Given the description of an element on the screen output the (x, y) to click on. 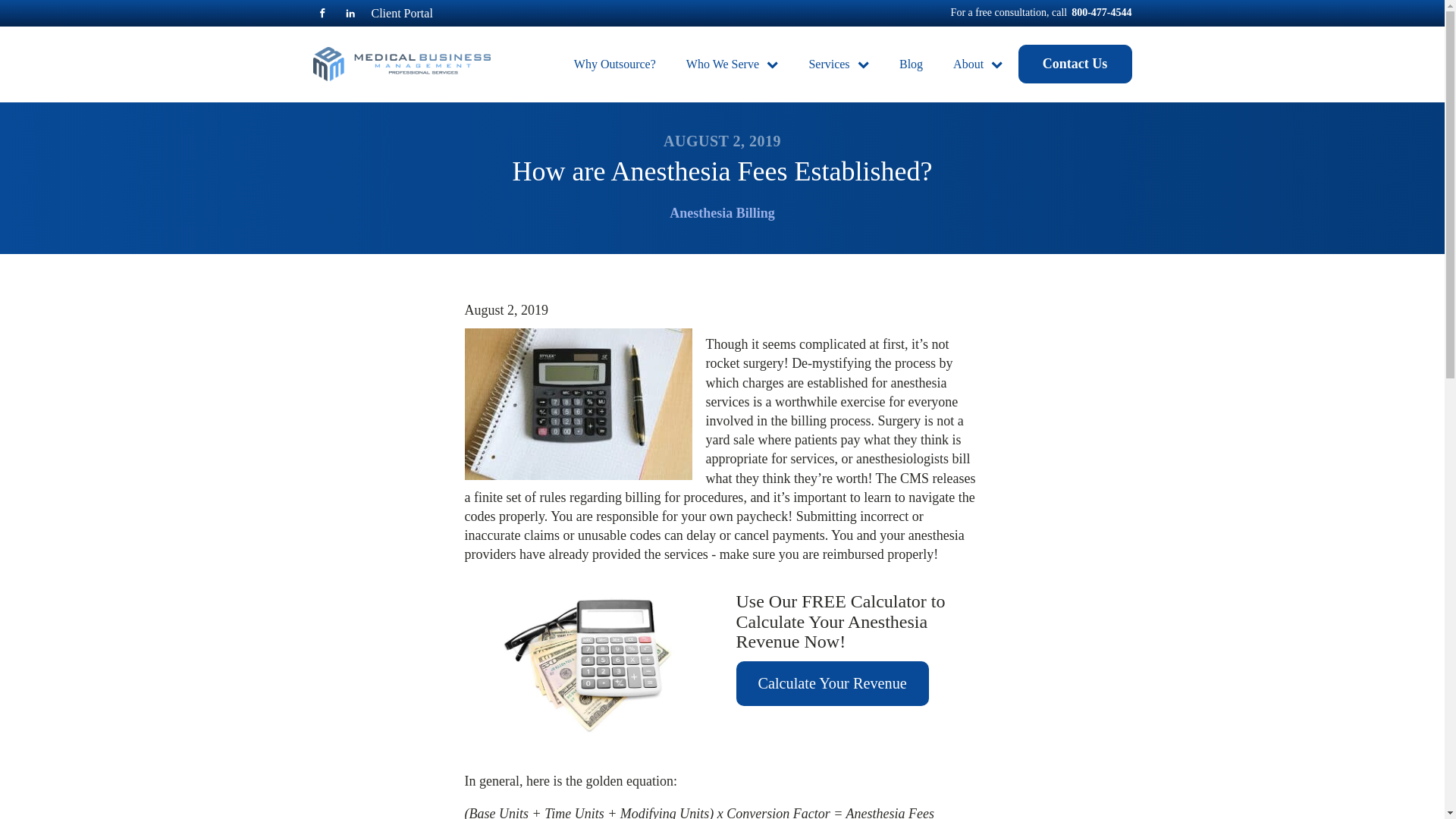
Anesthesia Billing (721, 212)
Contact Us (1074, 64)
Services (838, 64)
About (977, 64)
Why Outsource? (615, 64)
800-477-4544 (1101, 16)
Blog (910, 64)
Calculate Your Revenue (831, 682)
Client Portal (395, 17)
Who We Serve (732, 64)
